Given the description of an element on the screen output the (x, y) to click on. 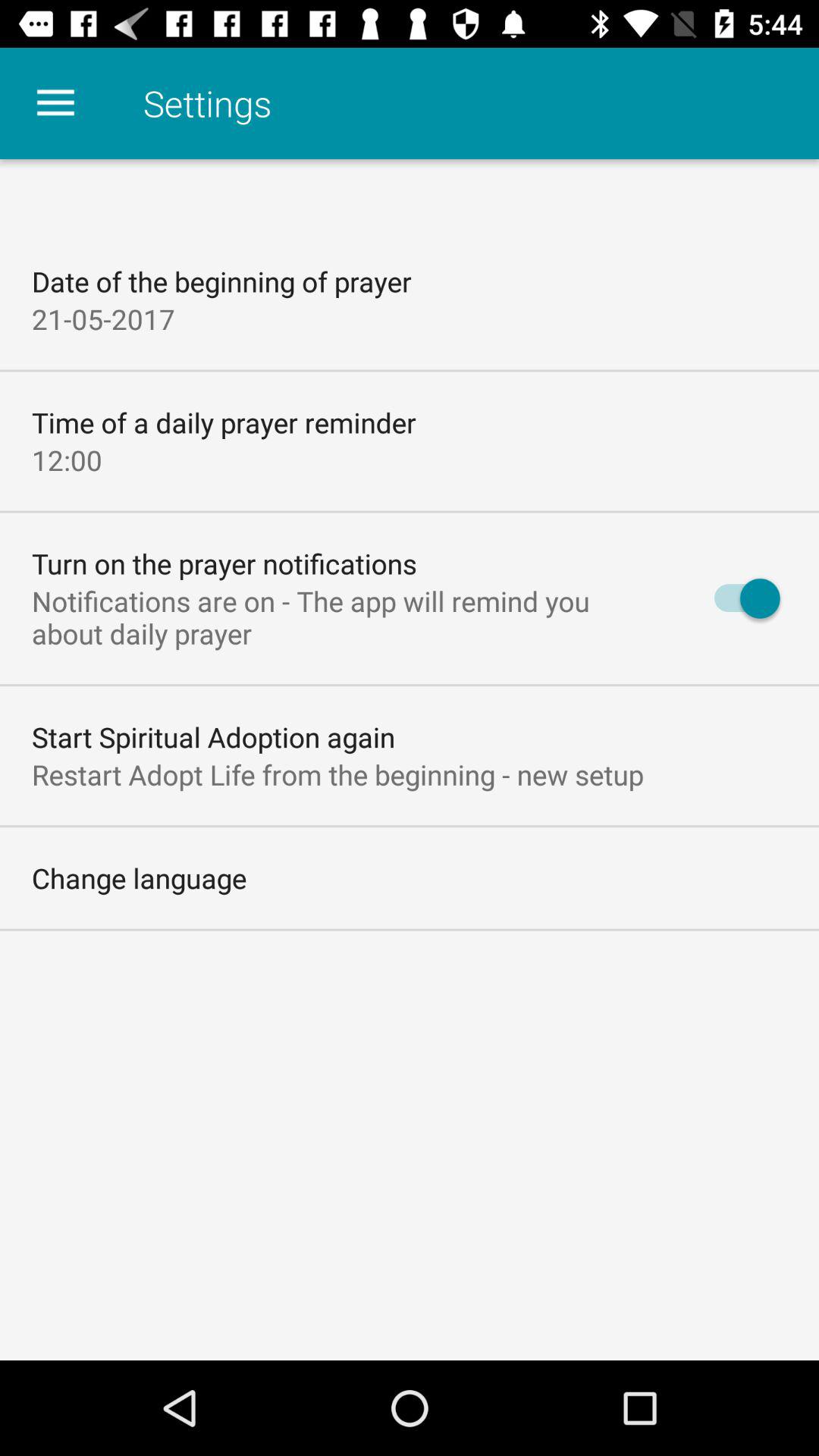
tap the 12:00 (66, 459)
